Given the description of an element on the screen output the (x, y) to click on. 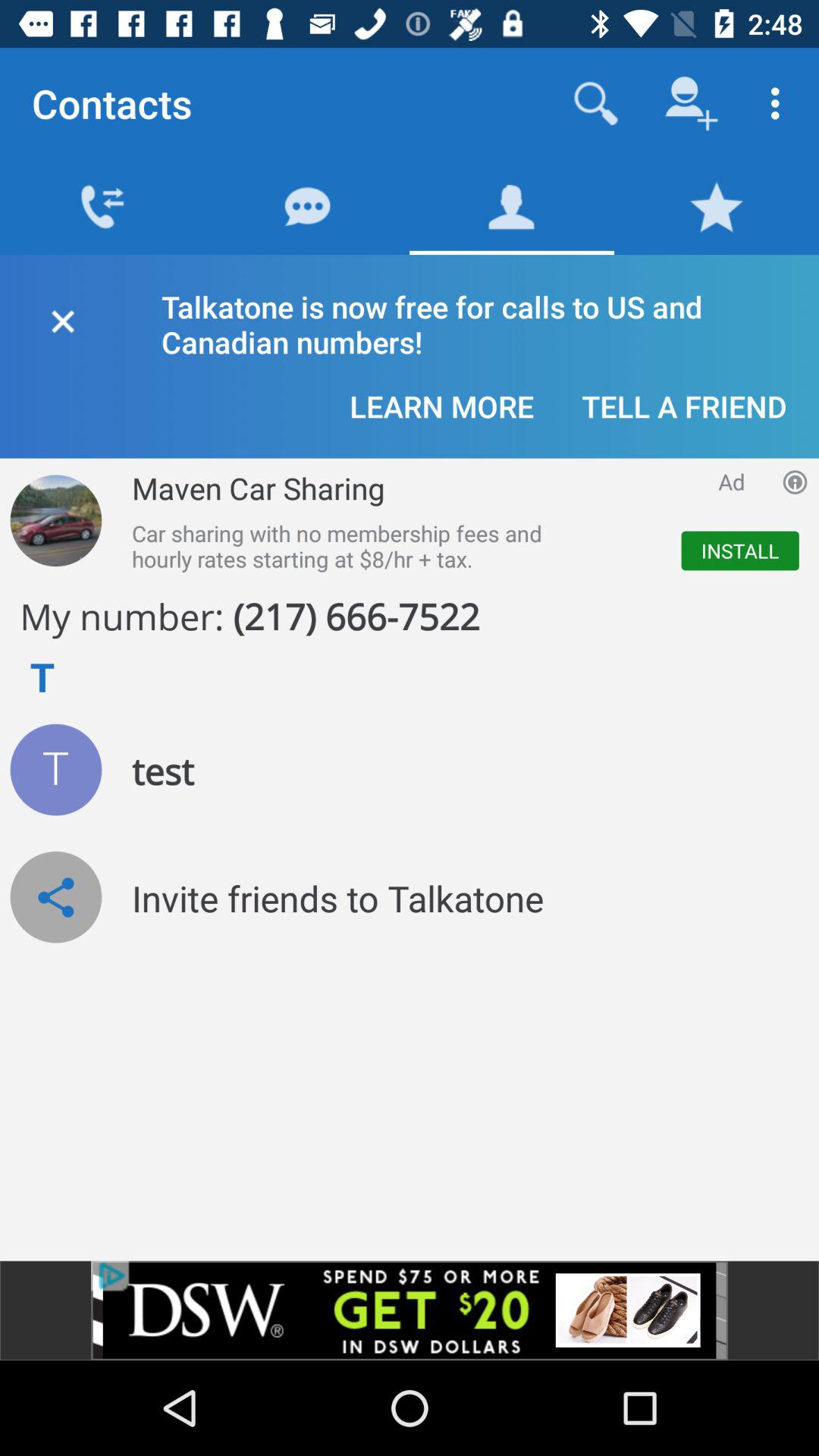
close this (62, 318)
